Given the description of an element on the screen output the (x, y) to click on. 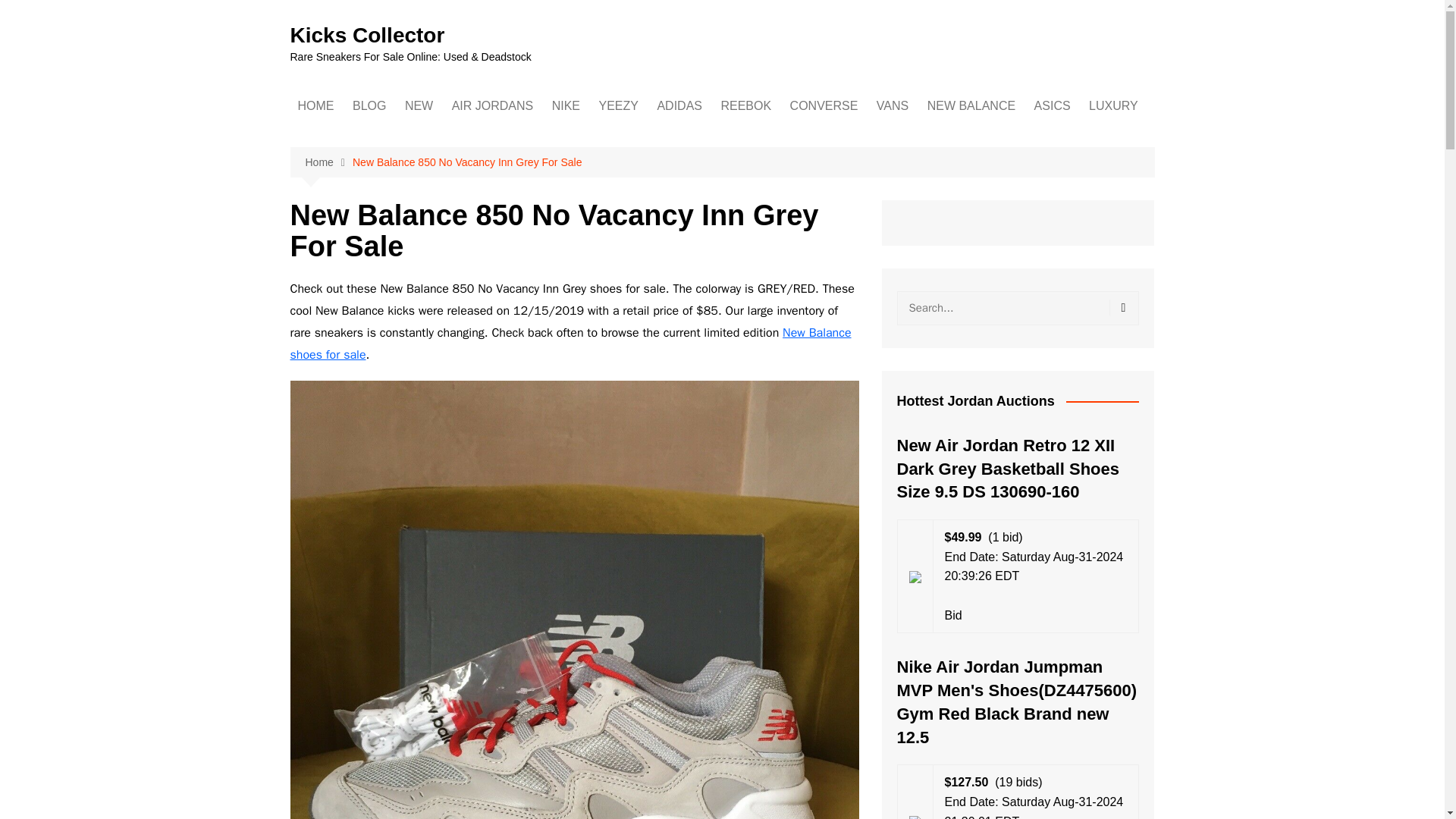
New Balance 850 No Vacancy Inn Grey For Sale (466, 161)
Home (328, 162)
ADIDAS (679, 105)
NEW BALANCE (971, 105)
YEEZY (618, 105)
HOME (314, 105)
LUXURY (1113, 105)
BLOG (369, 105)
AIR JORDANS (492, 105)
NEW (419, 105)
